Given the description of an element on the screen output the (x, y) to click on. 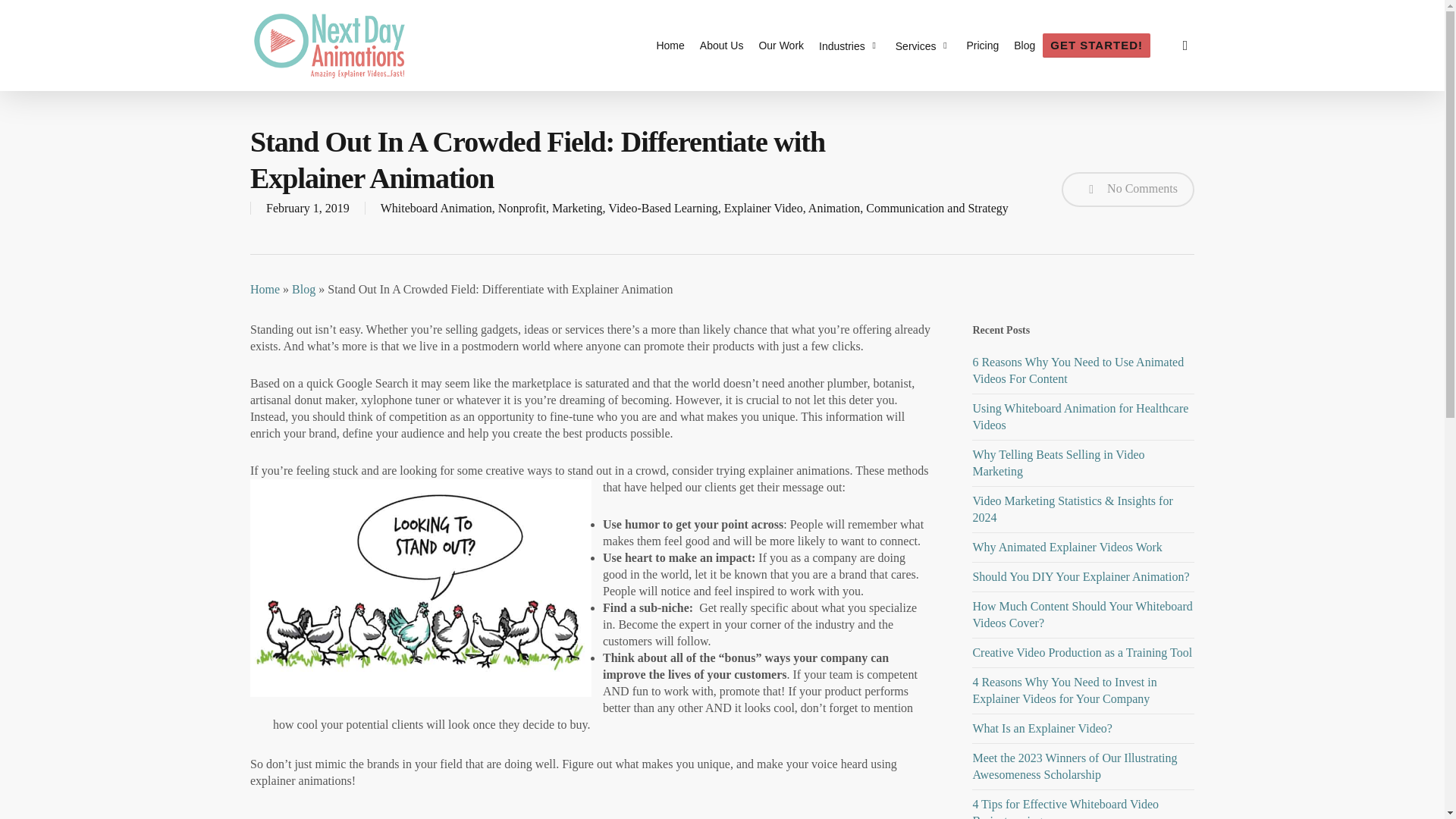
Blog (1024, 44)
Industries (849, 45)
Home (669, 44)
search (1184, 45)
Services (923, 45)
Pricing (982, 44)
Our Work (780, 44)
GET STARTED! (1096, 45)
About Us (722, 44)
